Given the description of an element on the screen output the (x, y) to click on. 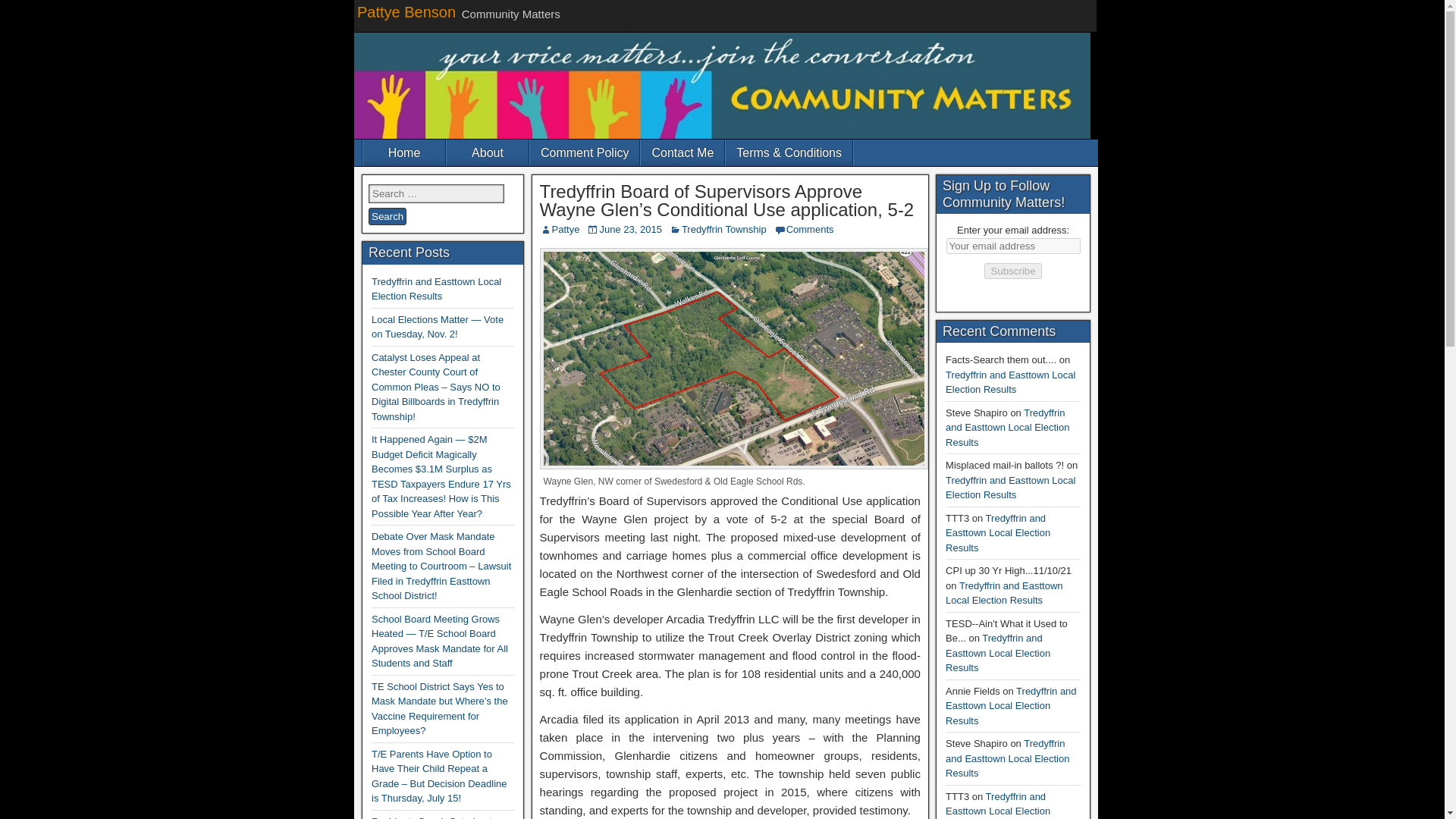
Pattye Benson (405, 12)
Tredyffrin and Easttown Local Election Results (1006, 427)
About (487, 152)
Pattye (565, 229)
Subscribe (1012, 270)
June 23, 2015 (629, 229)
Tredyffrin and Easttown Local Election Results (1009, 382)
Comment Policy (584, 152)
Tredyffrin and Easttown Local Election Results (1009, 488)
Comments (810, 229)
Tredyffrin Township (724, 229)
Search (387, 216)
Search (387, 216)
Subscribe (1012, 270)
Home (403, 152)
